Given the description of an element on the screen output the (x, y) to click on. 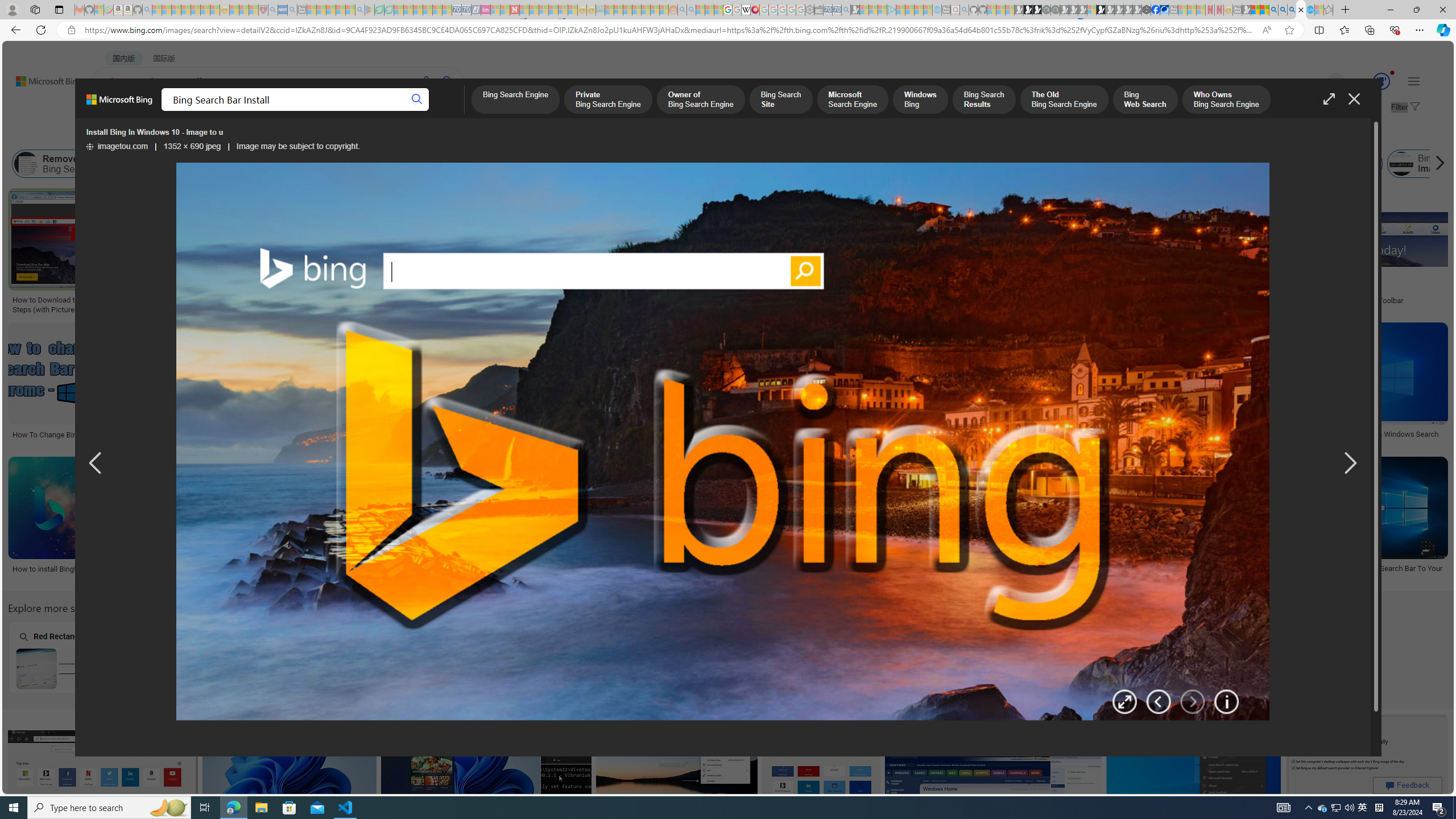
Bing Search Site (780, 100)
Install Bing as My Homepage (665, 163)
Bing Menu Bar (1312, 163)
Bing Search Bar App (901, 163)
github - Search - Sleeping (964, 9)
Bing T-Shirts (704, 227)
Red Rectangle Bing Search Bar (79, 668)
